Given the description of an element on the screen output the (x, y) to click on. 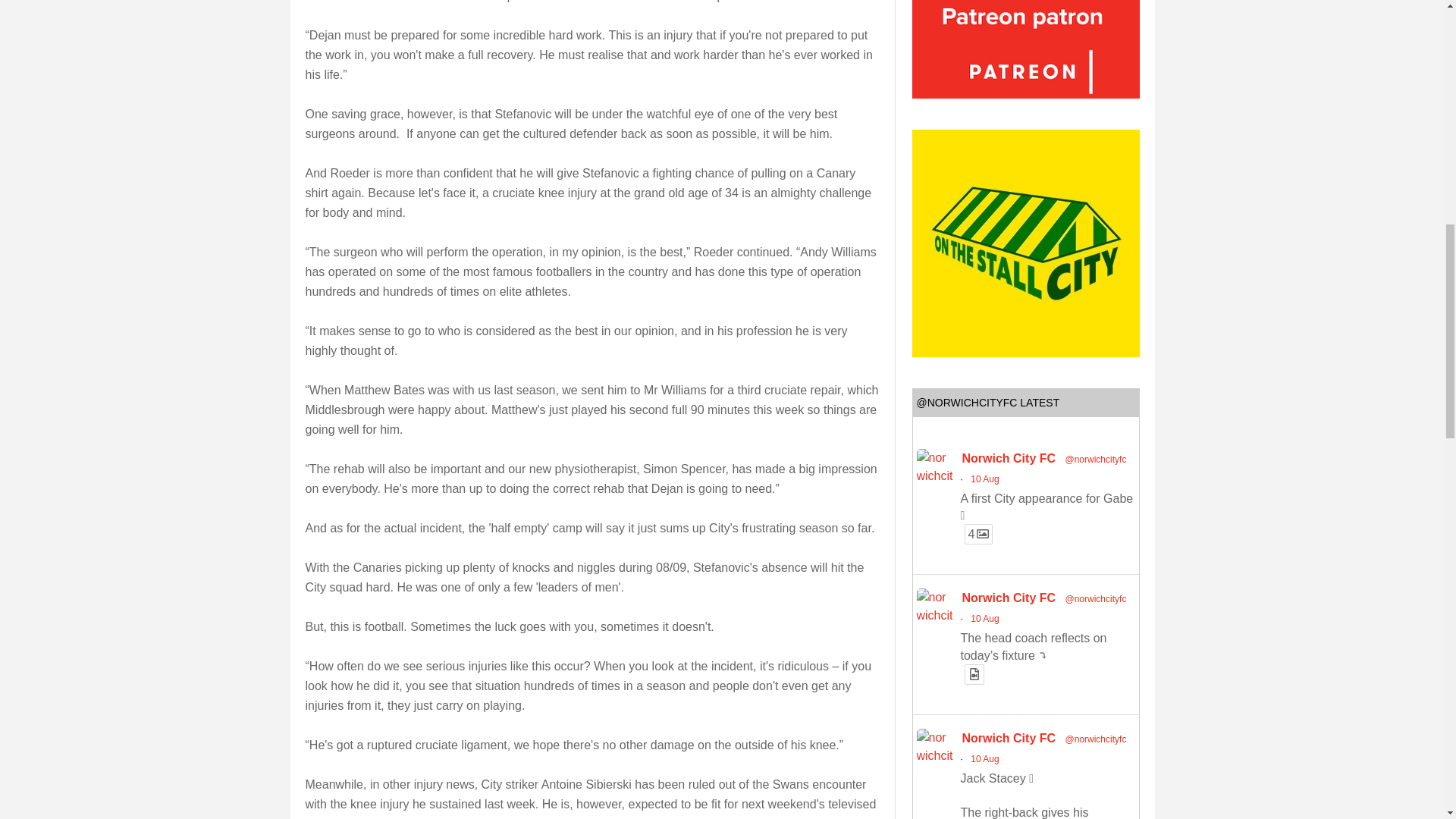
Norwich City FC (1007, 458)
4 (977, 534)
10 Aug (984, 479)
